Given the description of an element on the screen output the (x, y) to click on. 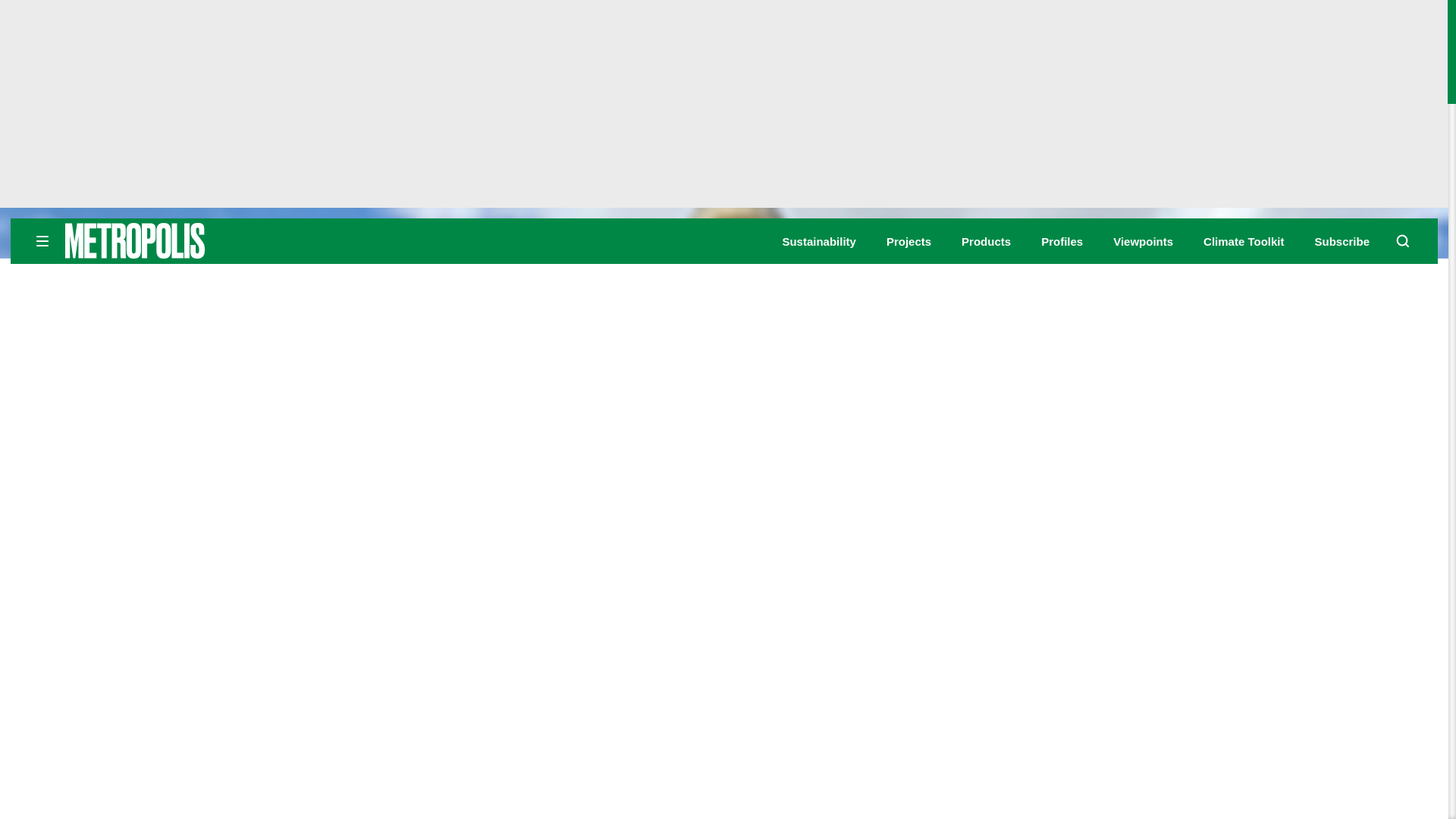
Sustainability (818, 241)
Products (985, 241)
Subscribe (1342, 241)
Climate Toolkit (1244, 241)
METROPOLIS (181, 240)
Profiles (1062, 241)
Viewpoints (1143, 241)
Projects (908, 241)
